Given the description of an element on the screen output the (x, y) to click on. 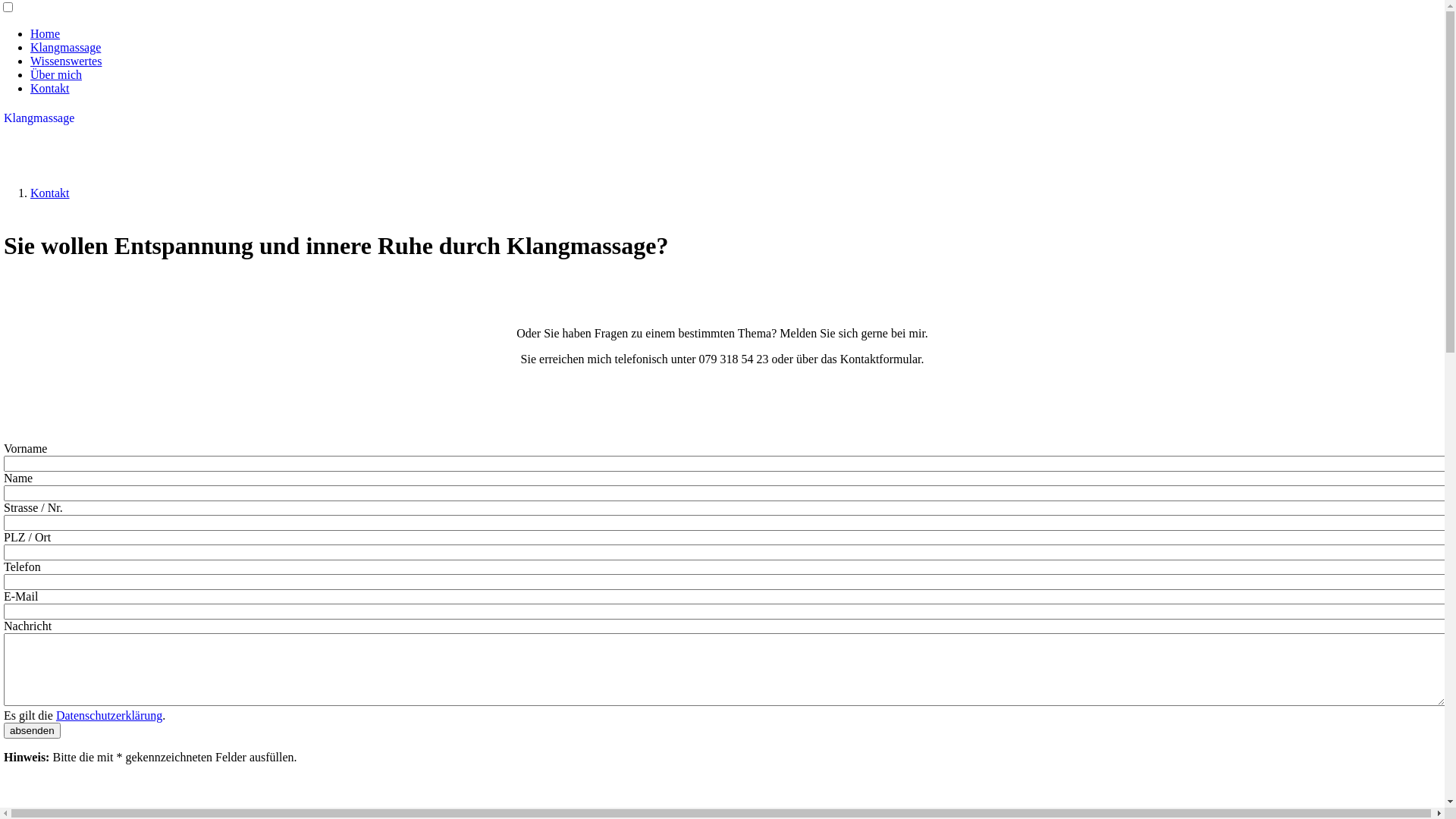
Home Element type: text (44, 33)
Wissenswertes Element type: text (65, 60)
Kontakt Element type: text (49, 192)
absenden Element type: text (31, 730)
Klangmassage Element type: text (65, 46)
Klangmassage Element type: text (38, 117)
Kontakt Element type: text (49, 87)
